Given the description of an element on the screen output the (x, y) to click on. 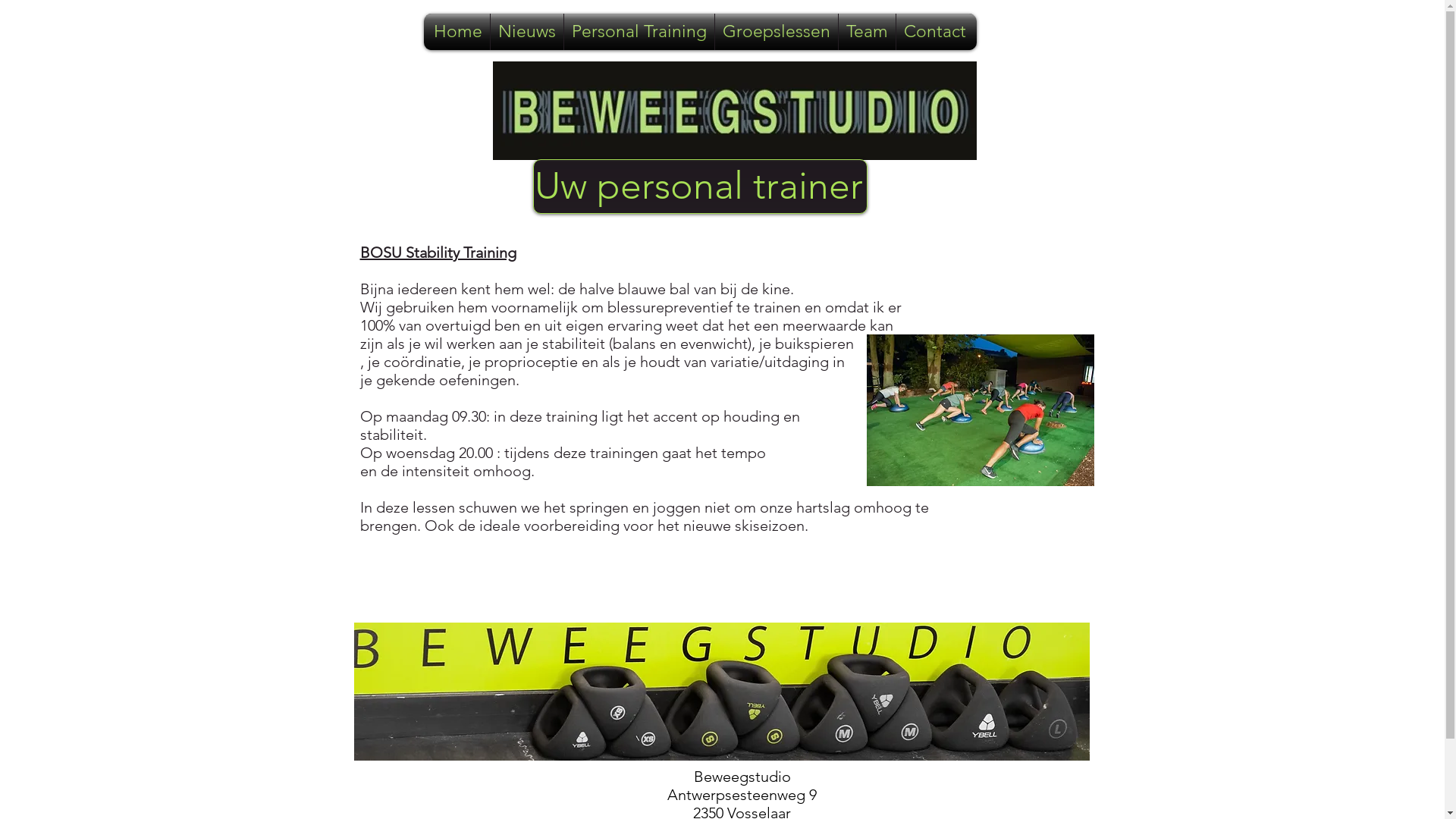
Nieuws Element type: text (526, 31)
Groepslessen Element type: text (776, 31)
Team Element type: text (866, 31)
Home Element type: text (457, 31)
Contact Element type: text (934, 31)
Personal Training Element type: text (639, 31)
